Given the description of an element on the screen output the (x, y) to click on. 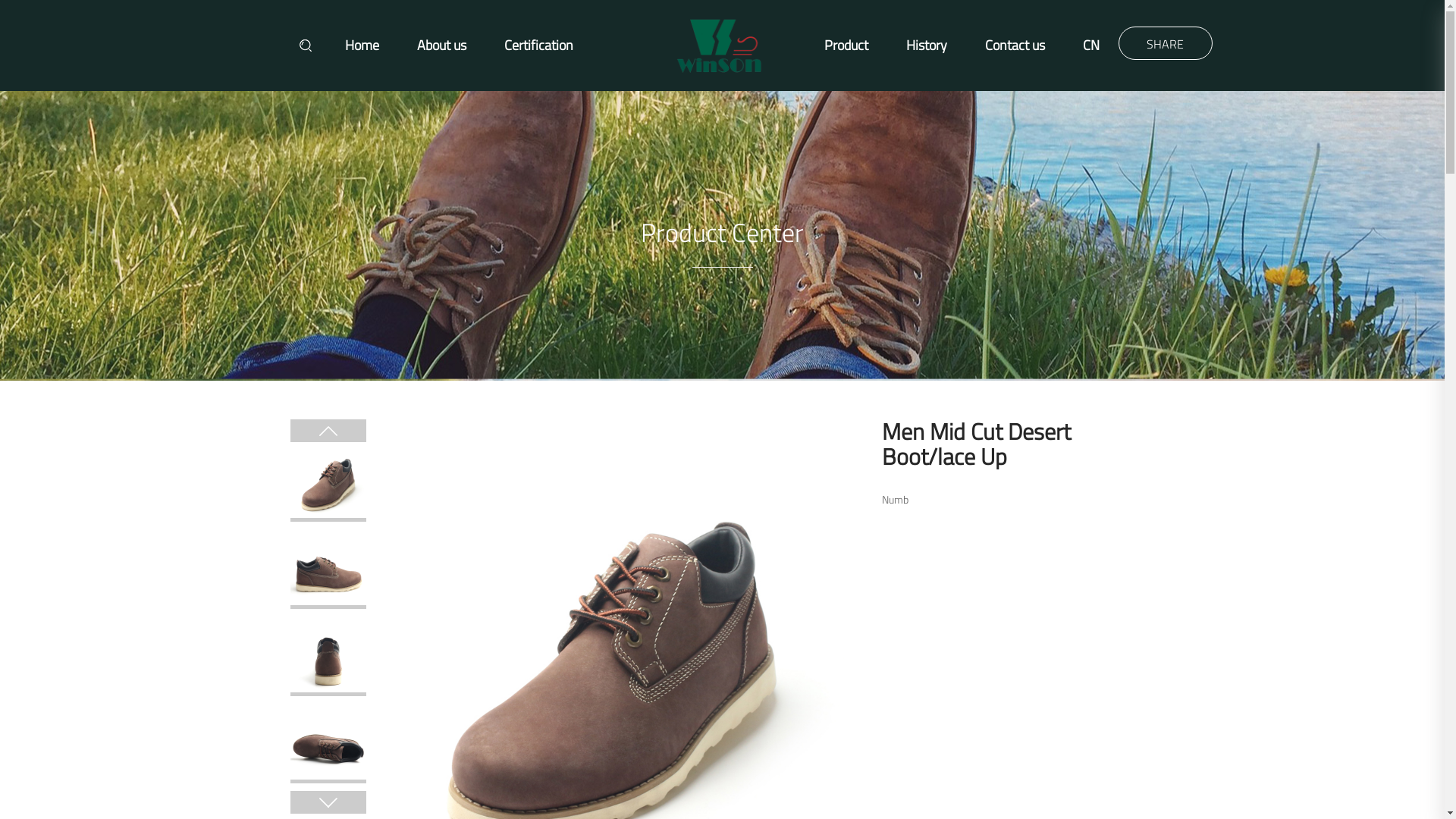
Home Element type: text (362, 45)
About us Element type: text (441, 45)
History Element type: text (926, 45)
CN Element type: text (1090, 45)
Product Element type: text (846, 45)
Certification Element type: text (538, 45)
Contact us Element type: text (1014, 45)
